Given the description of an element on the screen output the (x, y) to click on. 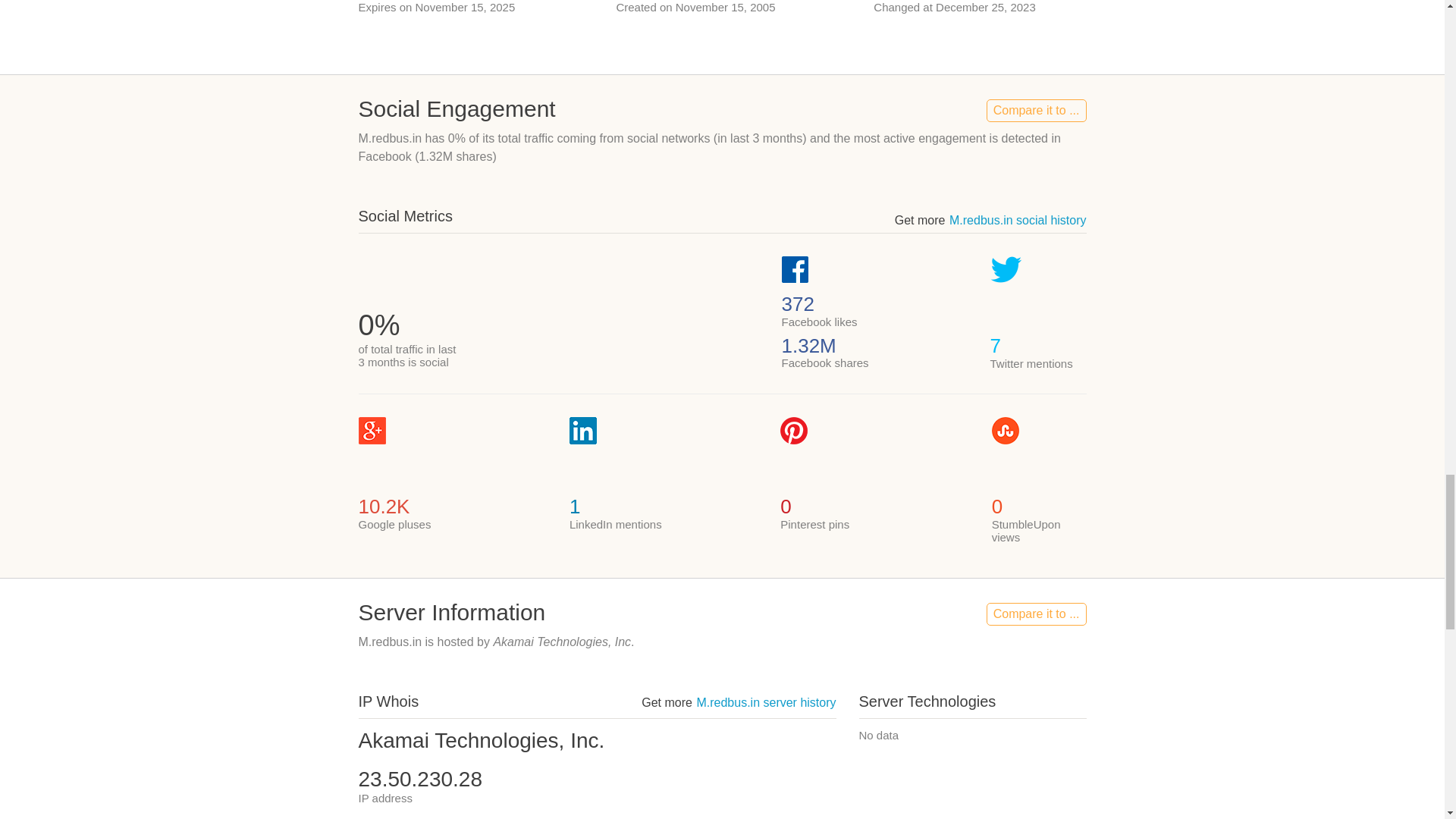
M.redbus.in social history (1017, 219)
M.redbus.in server history (765, 702)
Compare it to ... (1036, 613)
Compare it to ... (1036, 110)
